Given the description of an element on the screen output the (x, y) to click on. 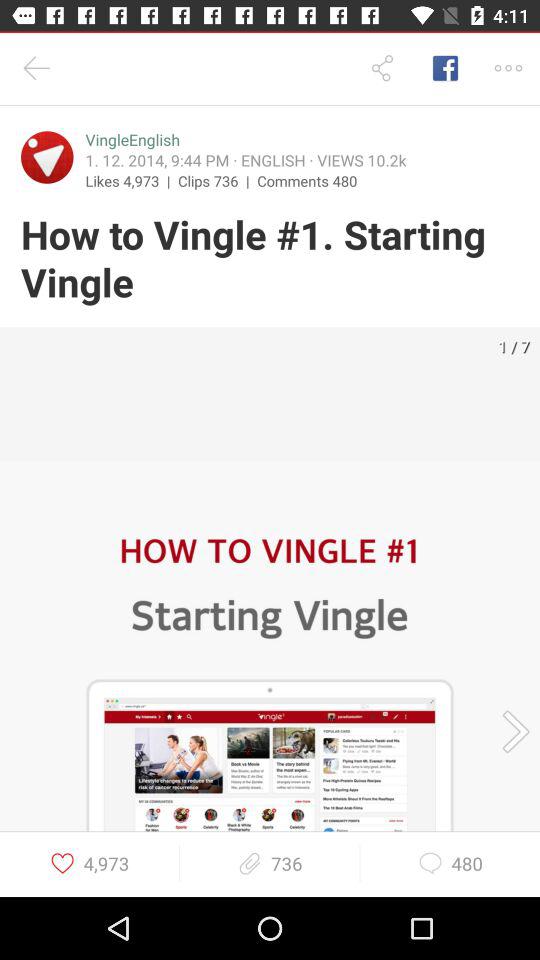
tap the clips 736  | (217, 180)
